Given the description of an element on the screen output the (x, y) to click on. 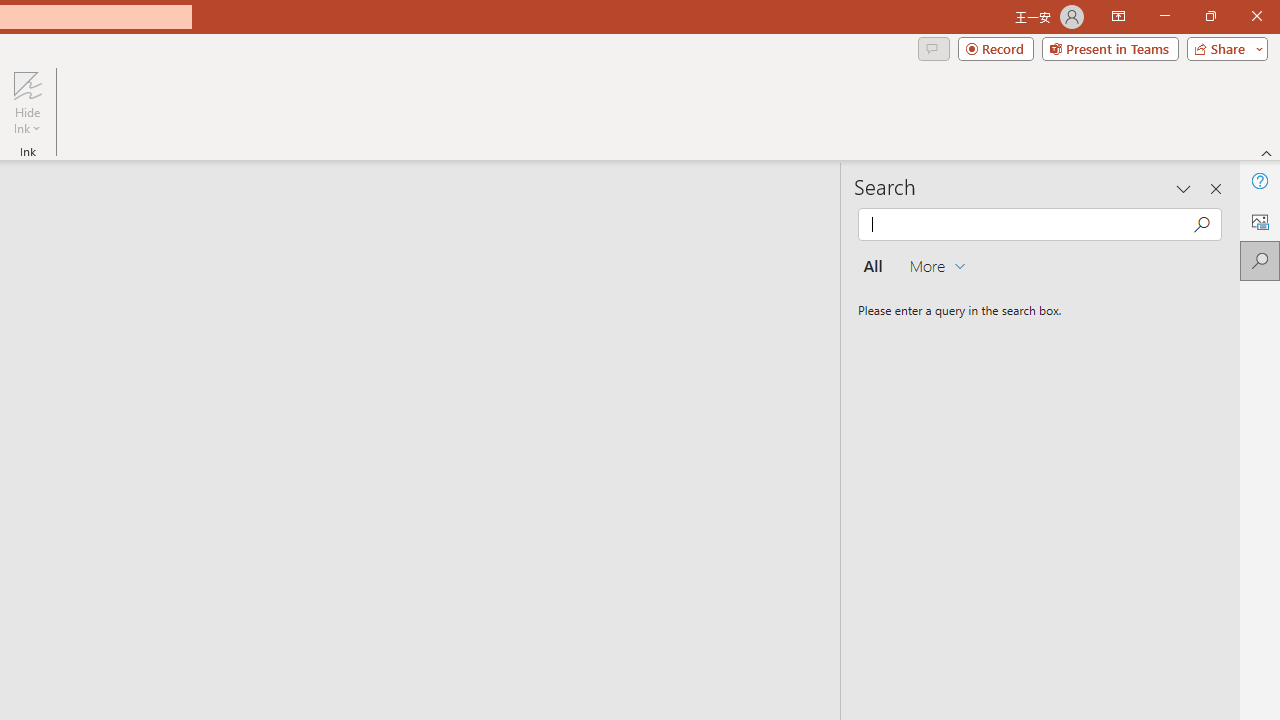
Hide Ink (27, 84)
